Given the description of an element on the screen output the (x, y) to click on. 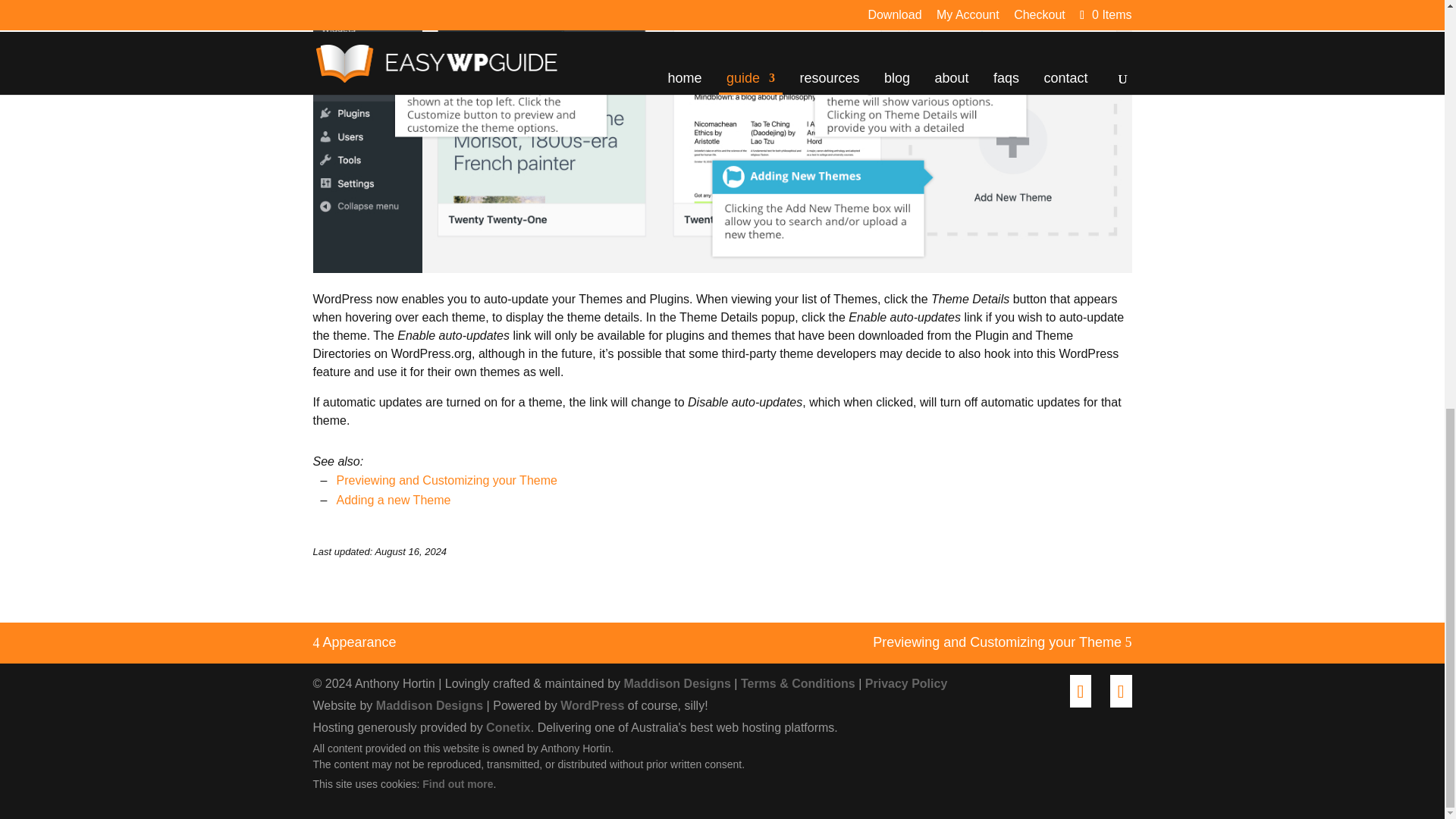
Appearance (354, 642)
Previewing and Customizing your Theme (996, 642)
Privacy Policy (905, 683)
